Given the description of an element on the screen output the (x, y) to click on. 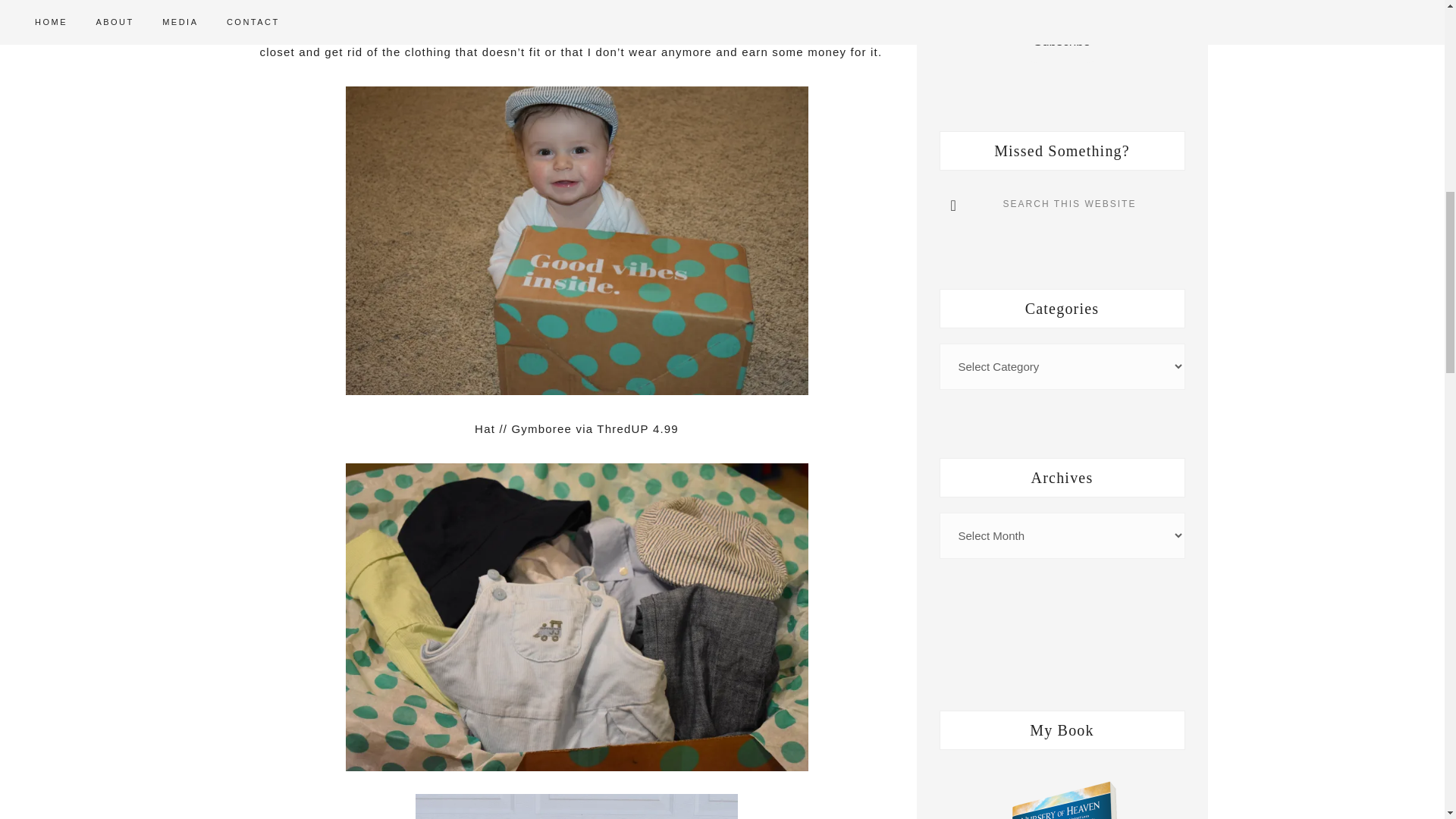
Subscribe (1061, 41)
